Given the description of an element on the screen output the (x, y) to click on. 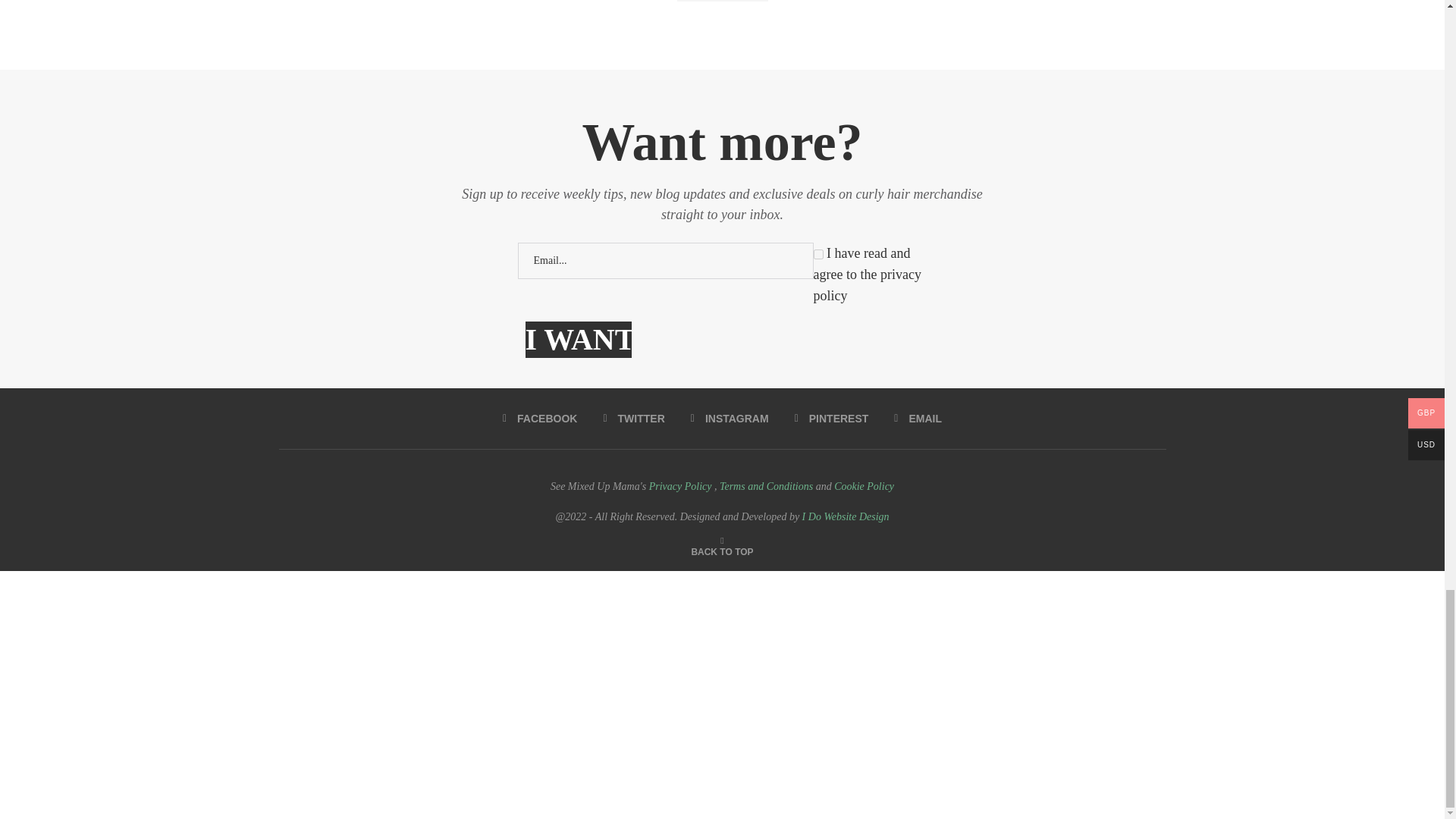
1 (817, 254)
I want more (577, 339)
Submit (722, 0)
